Given the description of an element on the screen output the (x, y) to click on. 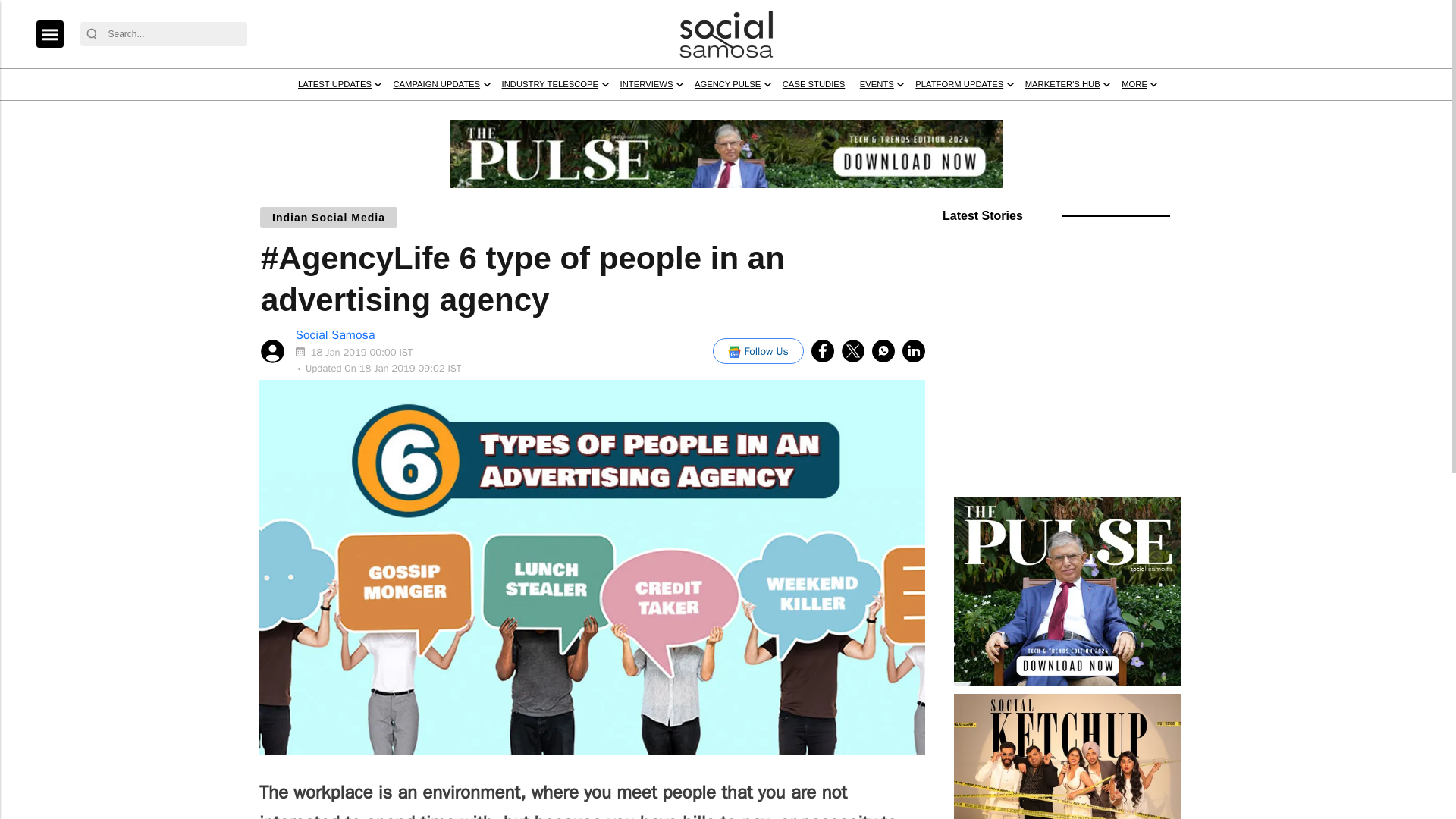
CAMPAIGN UPDATES (582, 113)
AGENCY PULSE (969, 113)
LATEST UPDATES (446, 113)
CASE STUDIES (1085, 113)
EVENTS (1168, 113)
INDUSTRY TELESCOPE (732, 113)
PLATFORM UPDATES (1278, 113)
INTERVIEWS (861, 113)
